Given the description of an element on the screen output the (x, y) to click on. 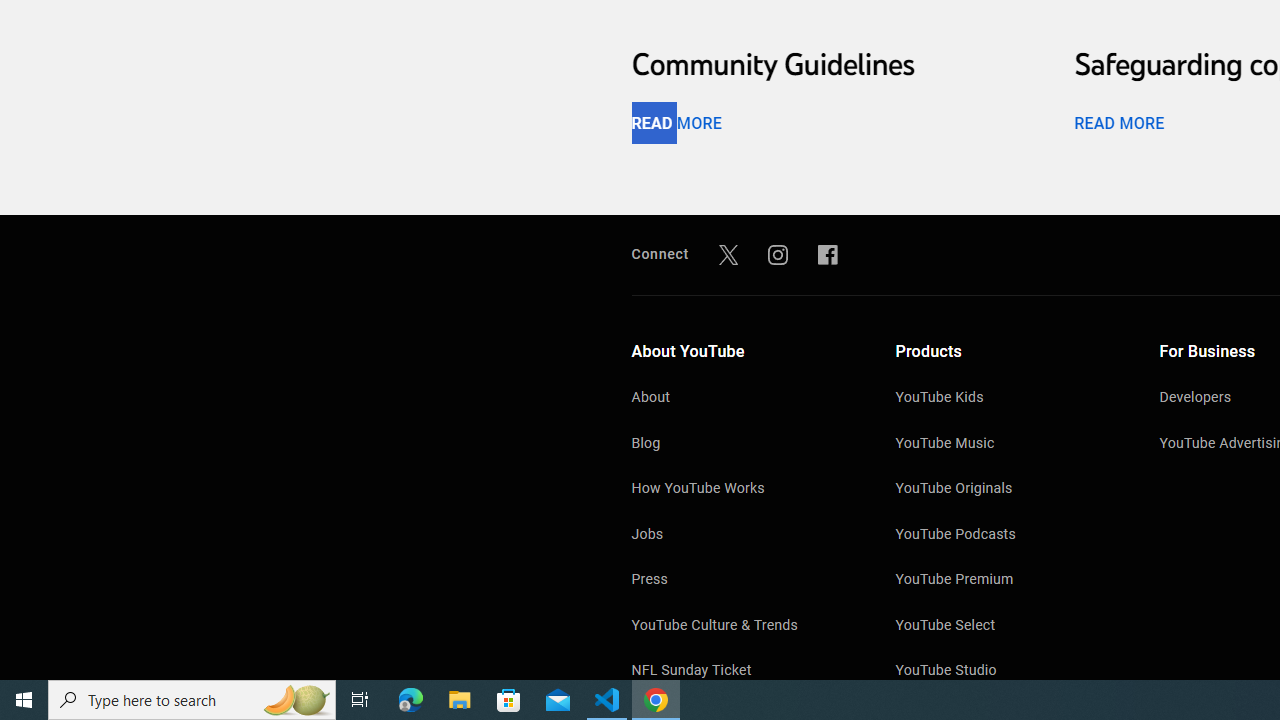
YouTube Culture & Trends (743, 627)
NFL Sunday Ticket (743, 672)
YouTube Podcasts (1007, 535)
Facebook (828, 254)
Jobs (743, 535)
Blog (743, 444)
How YouTube Works (743, 490)
YouTube Studio (1007, 672)
Instagram (778, 254)
YouTube Music (1007, 444)
Press (743, 581)
YouTube Premium (1007, 581)
YouTube Originals (1007, 490)
YouTube Select (1007, 627)
READ MORE (1118, 123)
